Given the description of an element on the screen output the (x, y) to click on. 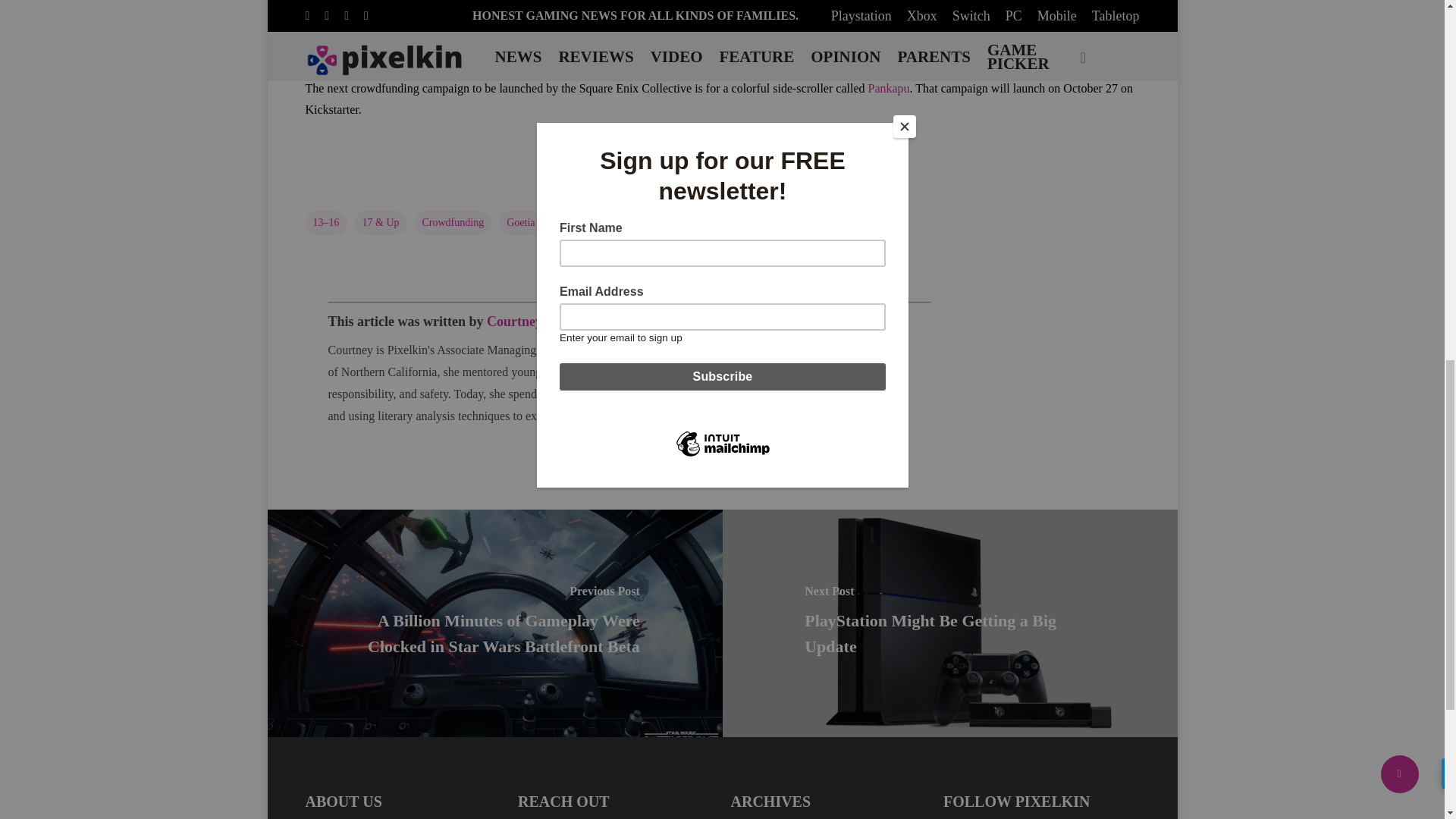
Mac (567, 222)
Pankapu (887, 88)
Posts by Courtney Holmes (537, 321)
Crowdfunding (452, 222)
Goetia (520, 222)
